Given the description of an element on the screen output the (x, y) to click on. 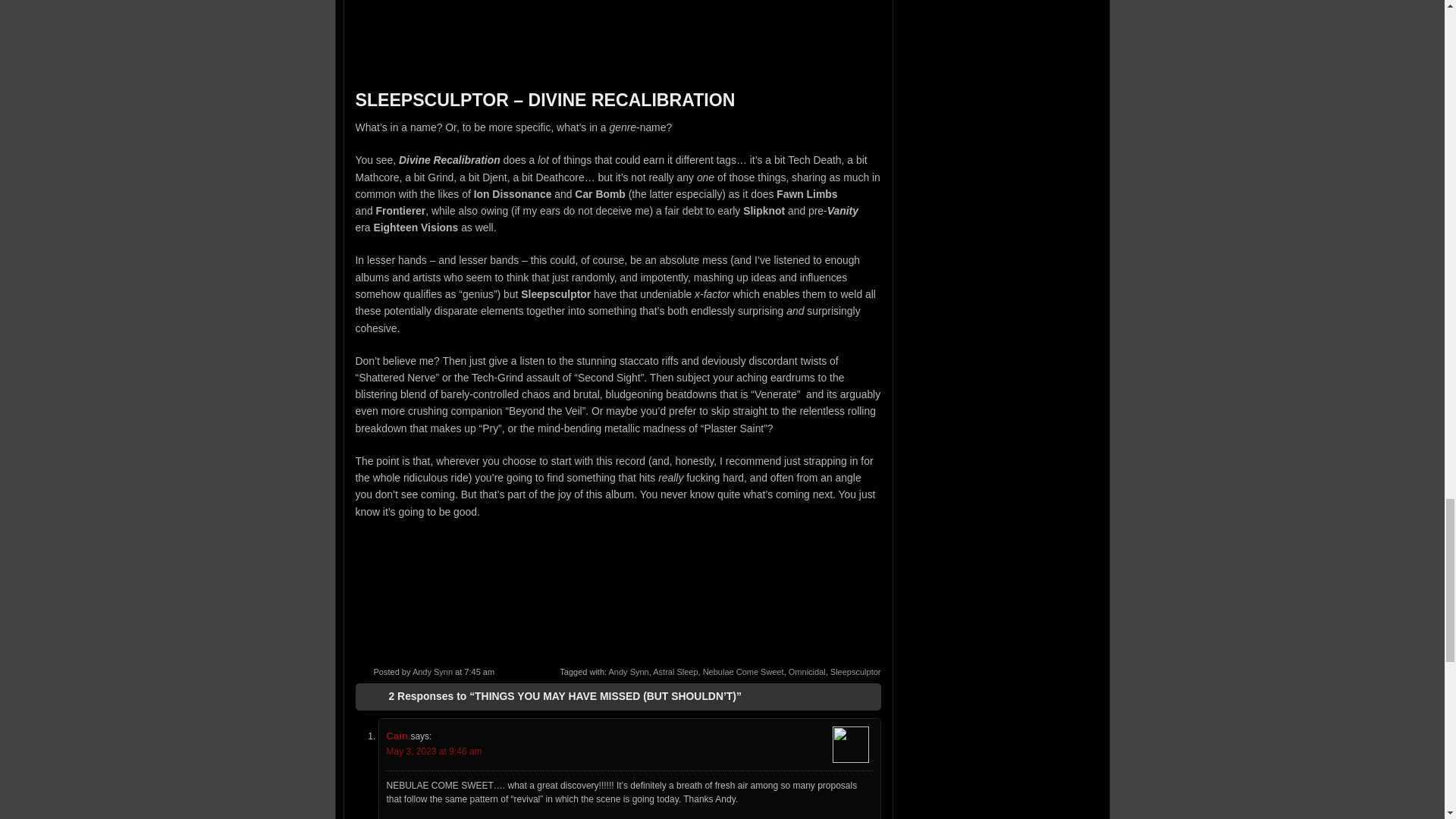
Andy Synn (432, 671)
Sleepsculptor (854, 671)
Astral Sleep (674, 671)
Nebulae Come Sweet (743, 671)
Andy Synn (628, 671)
Omnicidal (807, 671)
May 3, 2023 at 9:46 am (434, 751)
